Given the description of an element on the screen output the (x, y) to click on. 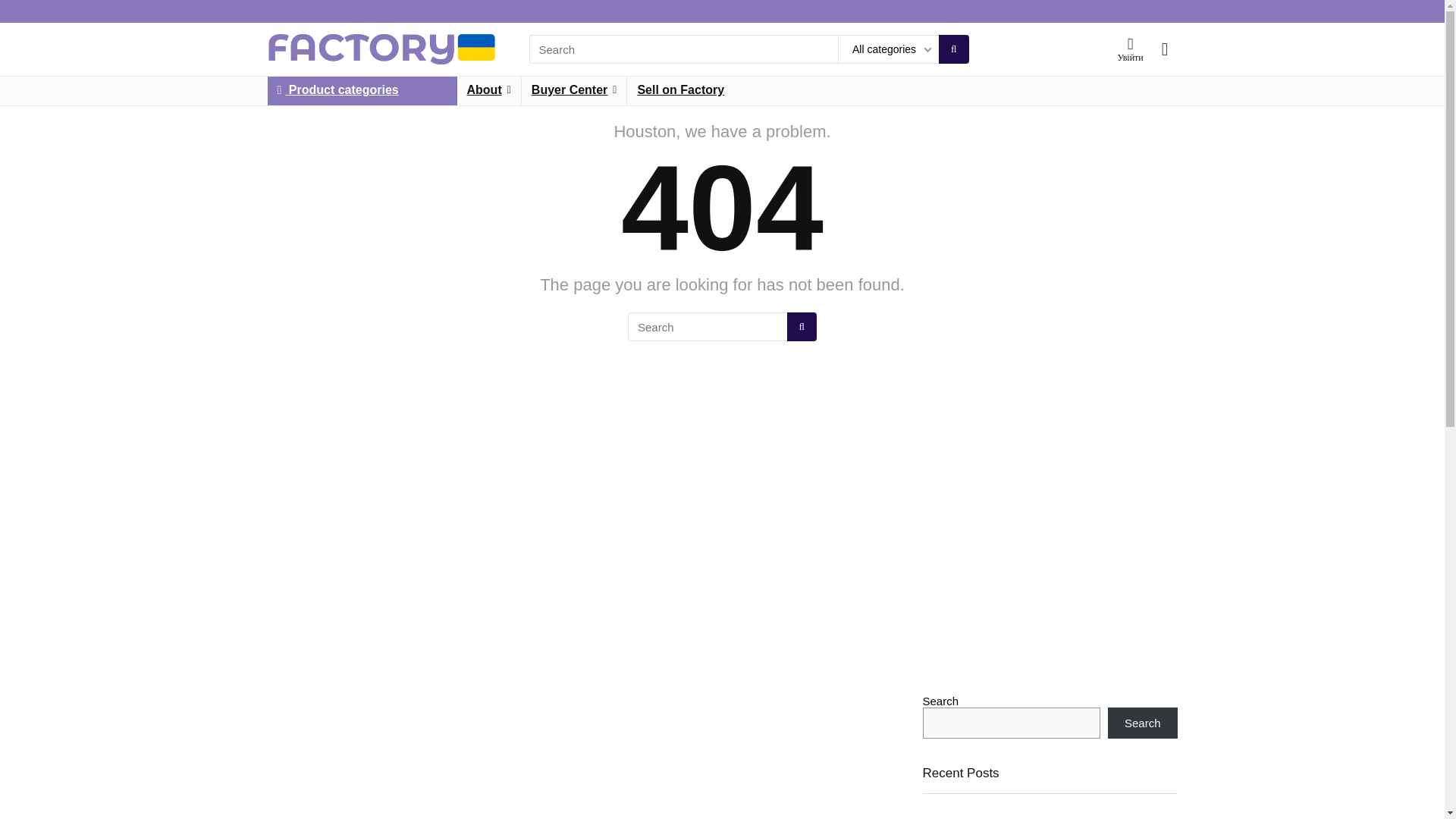
Product categories (360, 90)
Search (1142, 722)
About (488, 90)
Sell on Factory (680, 90)
Buyer Center (574, 90)
